Given the description of an element on the screen output the (x, y) to click on. 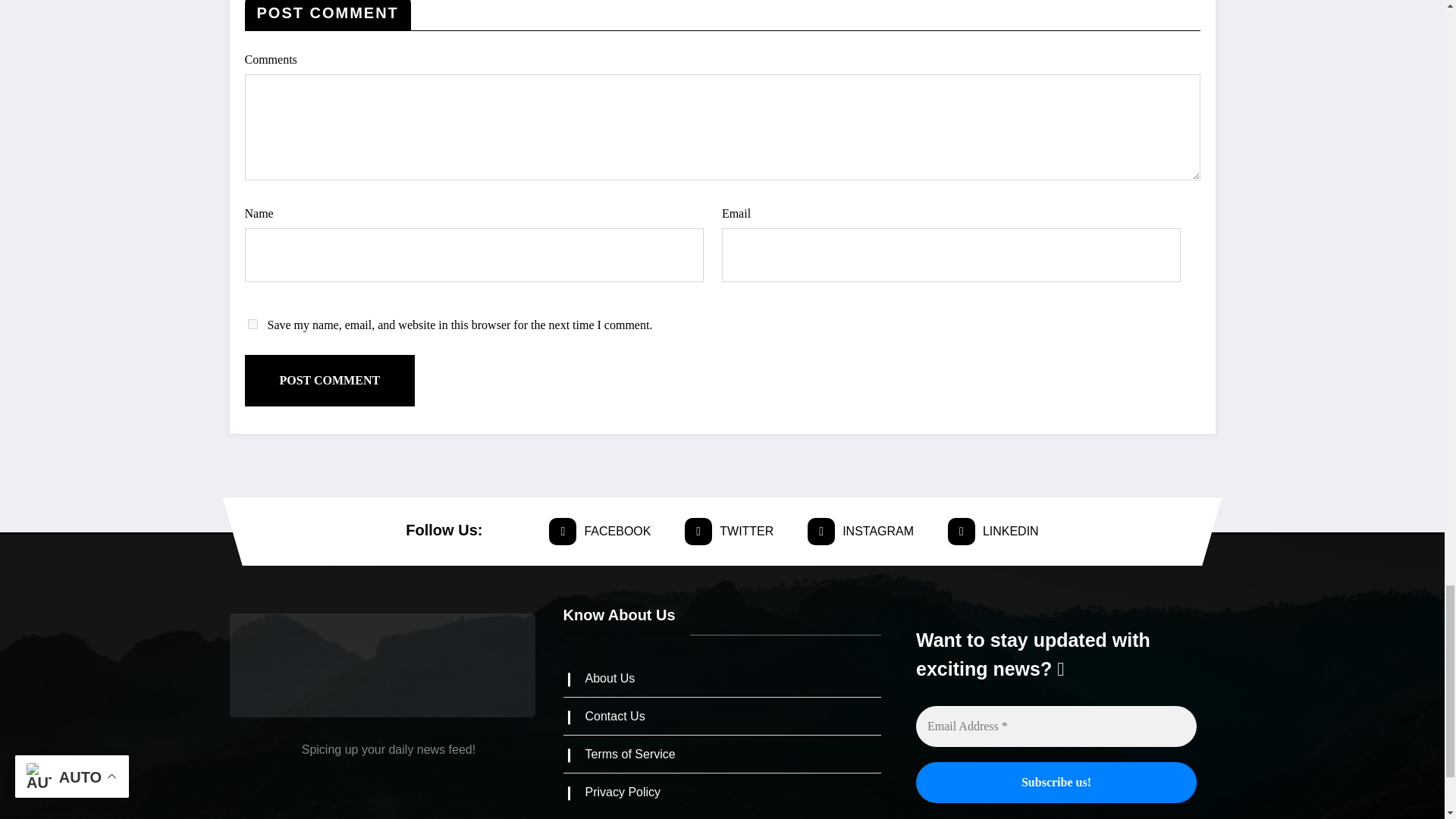
yes (252, 324)
Post Comment (329, 380)
Subscribe us! (1055, 782)
